Given the description of an element on the screen output the (x, y) to click on. 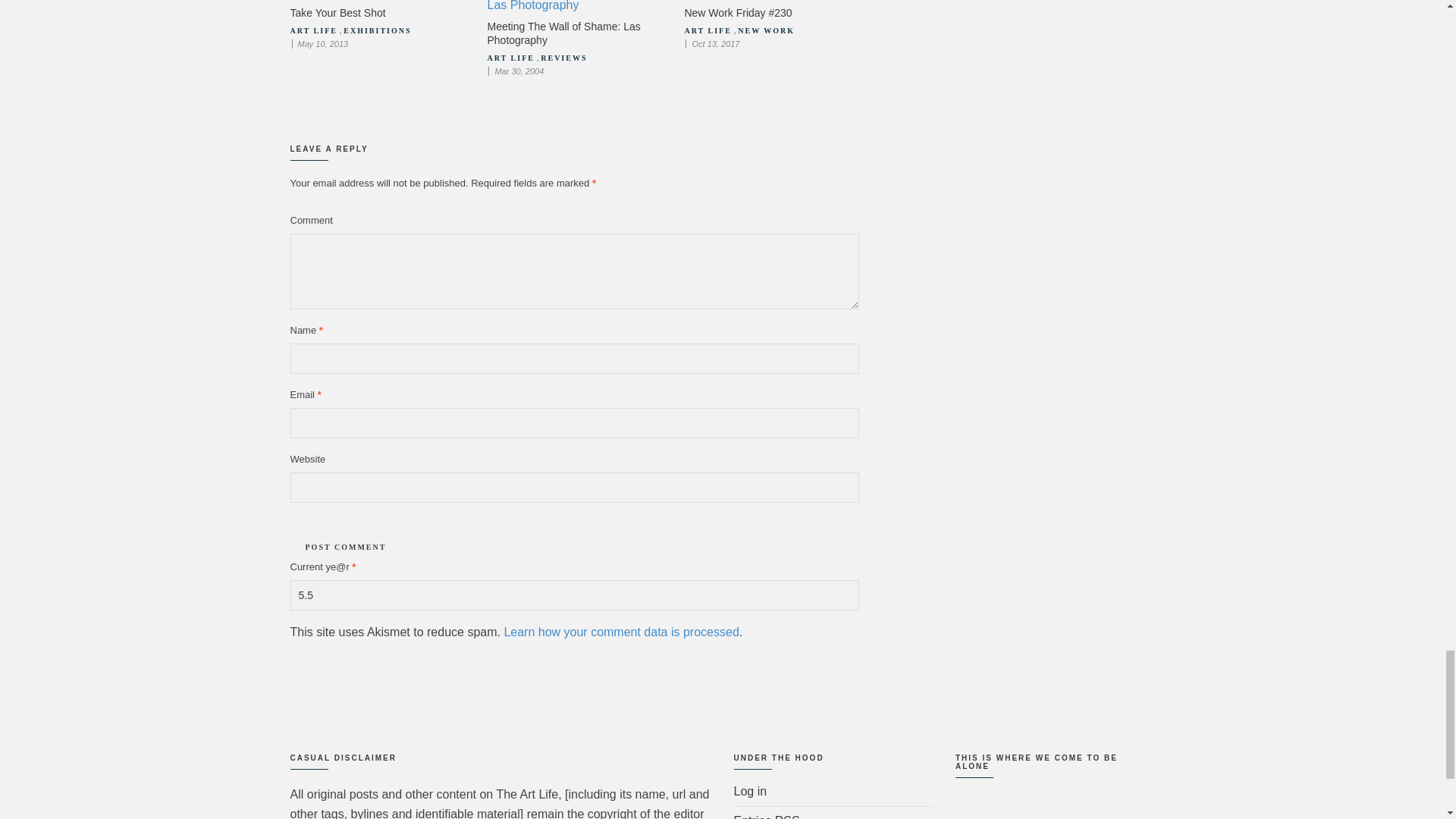
Log in (750, 790)
NEW WORK (766, 30)
EXHIBITIONS (376, 30)
REVIEWS (563, 58)
Really Simple Syndication (786, 816)
Post Comment (345, 547)
ART LIFE (312, 30)
Learn how your comment data is processed (620, 631)
Meeting The Wall of Shame: Las Photography (563, 32)
ART LIFE (707, 30)
5.5 (574, 594)
Entries RSS (766, 816)
ART LIFE (510, 58)
Take Your Best Shot (337, 12)
Post Comment (345, 547)
